Given the description of an element on the screen output the (x, y) to click on. 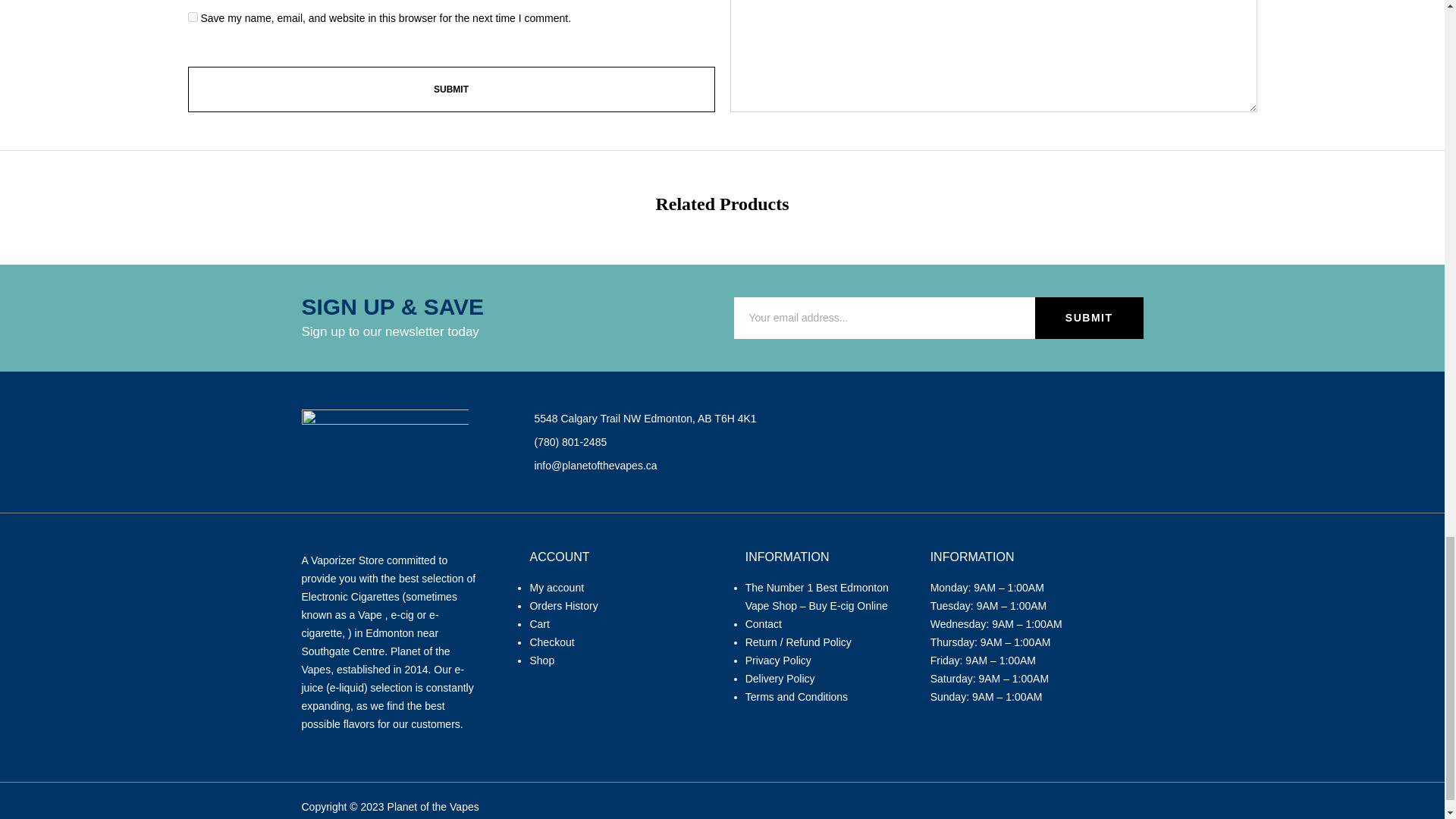
Submit (450, 89)
yes (192, 17)
SUBMIT (1088, 318)
